Given the description of an element on the screen output the (x, y) to click on. 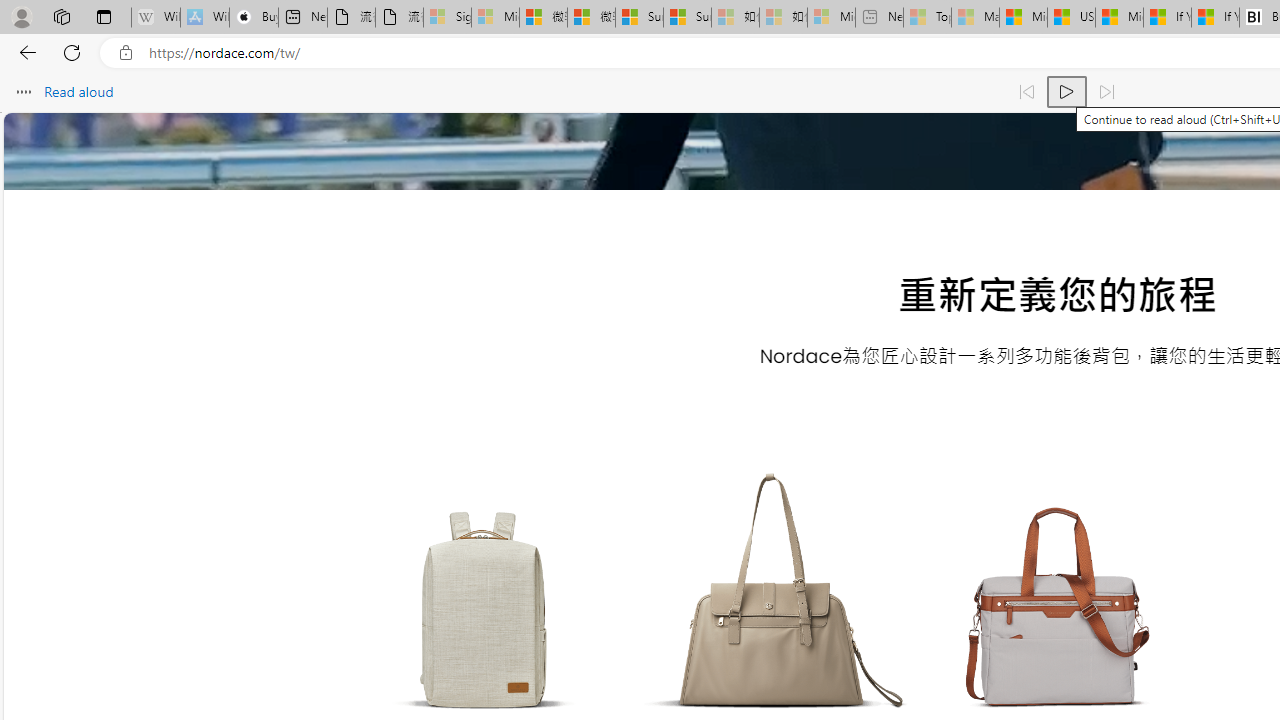
US Heat Deaths Soared To Record High Last Year (1071, 17)
Read next paragraph (1105, 92)
Sign in to your Microsoft account - Sleeping (447, 17)
Continue to read aloud (Ctrl+Shift+U) (1065, 92)
